Given the description of an element on the screen output the (x, y) to click on. 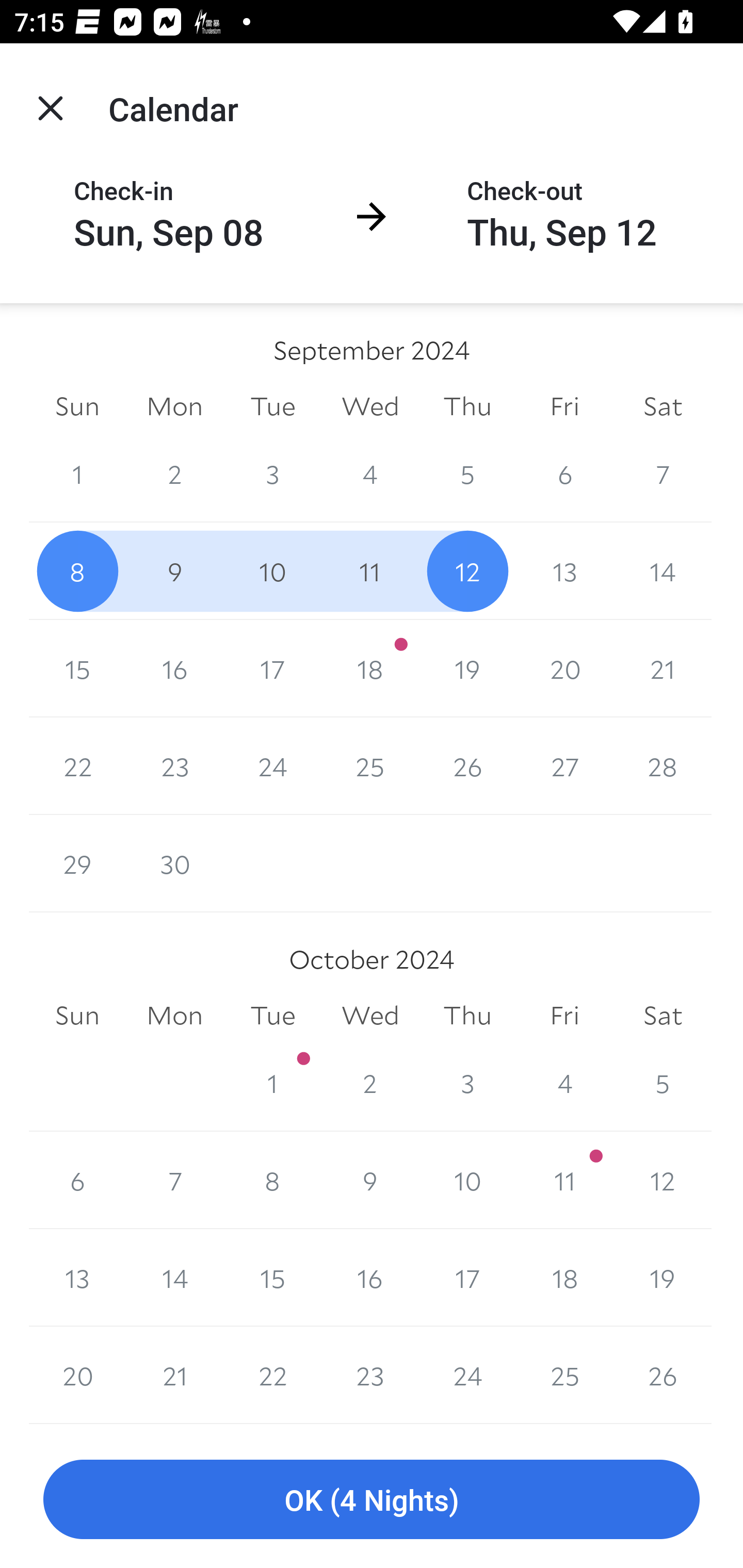
Sun (77, 405)
Mon (174, 405)
Tue (272, 405)
Wed (370, 405)
Thu (467, 405)
Fri (564, 405)
Sat (662, 405)
1 1 September 2024 (77, 473)
2 2 September 2024 (174, 473)
3 3 September 2024 (272, 473)
4 4 September 2024 (370, 473)
5 5 September 2024 (467, 473)
6 6 September 2024 (564, 473)
7 7 September 2024 (662, 473)
8 8 September 2024 (77, 570)
9 9 September 2024 (174, 570)
10 10 September 2024 (272, 570)
11 11 September 2024 (370, 570)
12 12 September 2024 (467, 570)
13 13 September 2024 (564, 570)
14 14 September 2024 (662, 570)
15 15 September 2024 (77, 668)
16 16 September 2024 (174, 668)
17 17 September 2024 (272, 668)
18 18 September 2024 (370, 668)
19 19 September 2024 (467, 668)
20 20 September 2024 (564, 668)
21 21 September 2024 (662, 668)
22 22 September 2024 (77, 766)
23 23 September 2024 (174, 766)
24 24 September 2024 (272, 766)
25 25 September 2024 (370, 766)
26 26 September 2024 (467, 766)
27 27 September 2024 (564, 766)
28 28 September 2024 (662, 766)
29 29 September 2024 (77, 863)
30 30 September 2024 (174, 863)
Sun (77, 1015)
Mon (174, 1015)
Tue (272, 1015)
Wed (370, 1015)
Thu (467, 1015)
Fri (564, 1015)
Sat (662, 1015)
1 1 October 2024 (272, 1083)
2 2 October 2024 (370, 1083)
3 3 October 2024 (467, 1083)
4 4 October 2024 (564, 1083)
5 5 October 2024 (662, 1083)
